Given the description of an element on the screen output the (x, y) to click on. 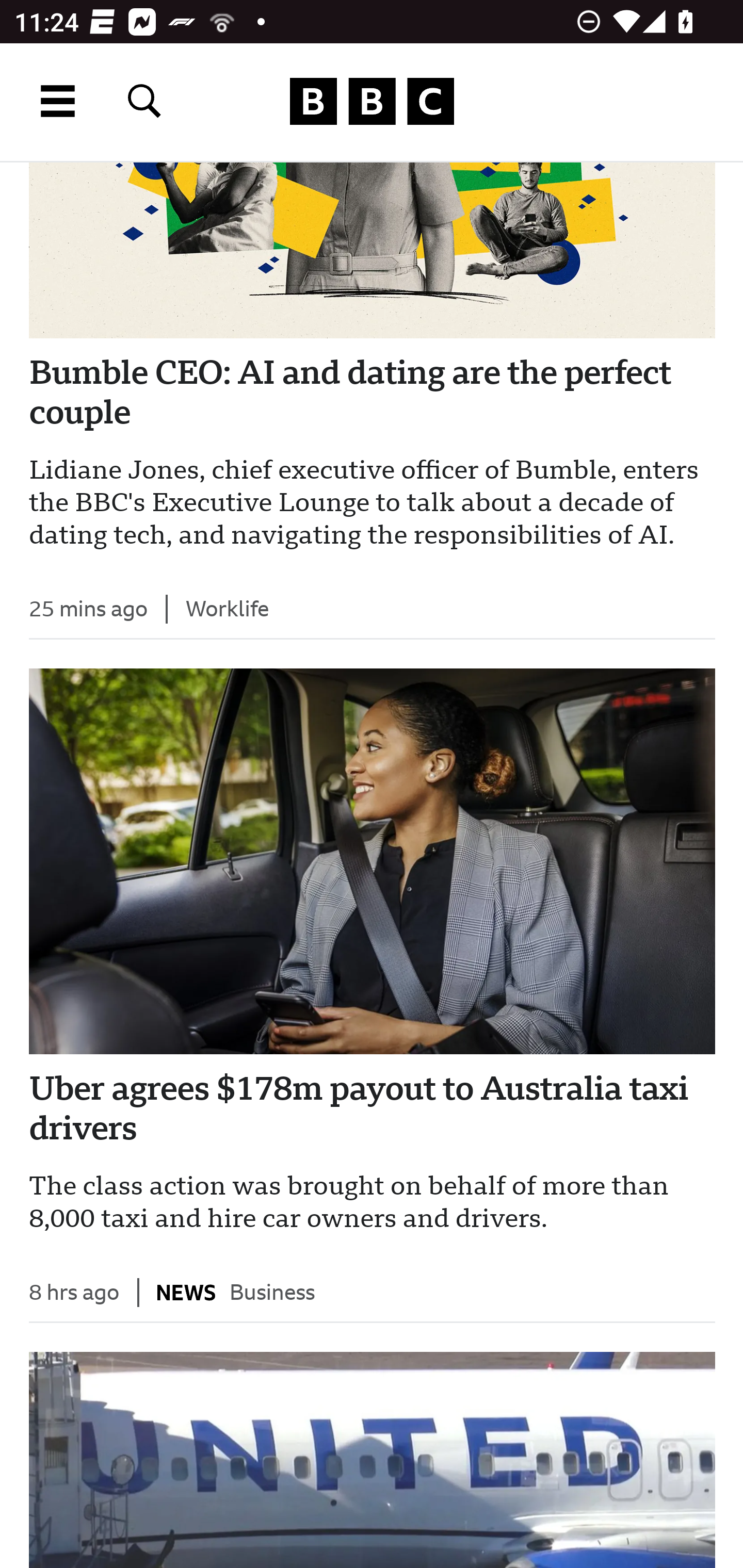
www.bbc (371, 101)
